Given the description of an element on the screen output the (x, y) to click on. 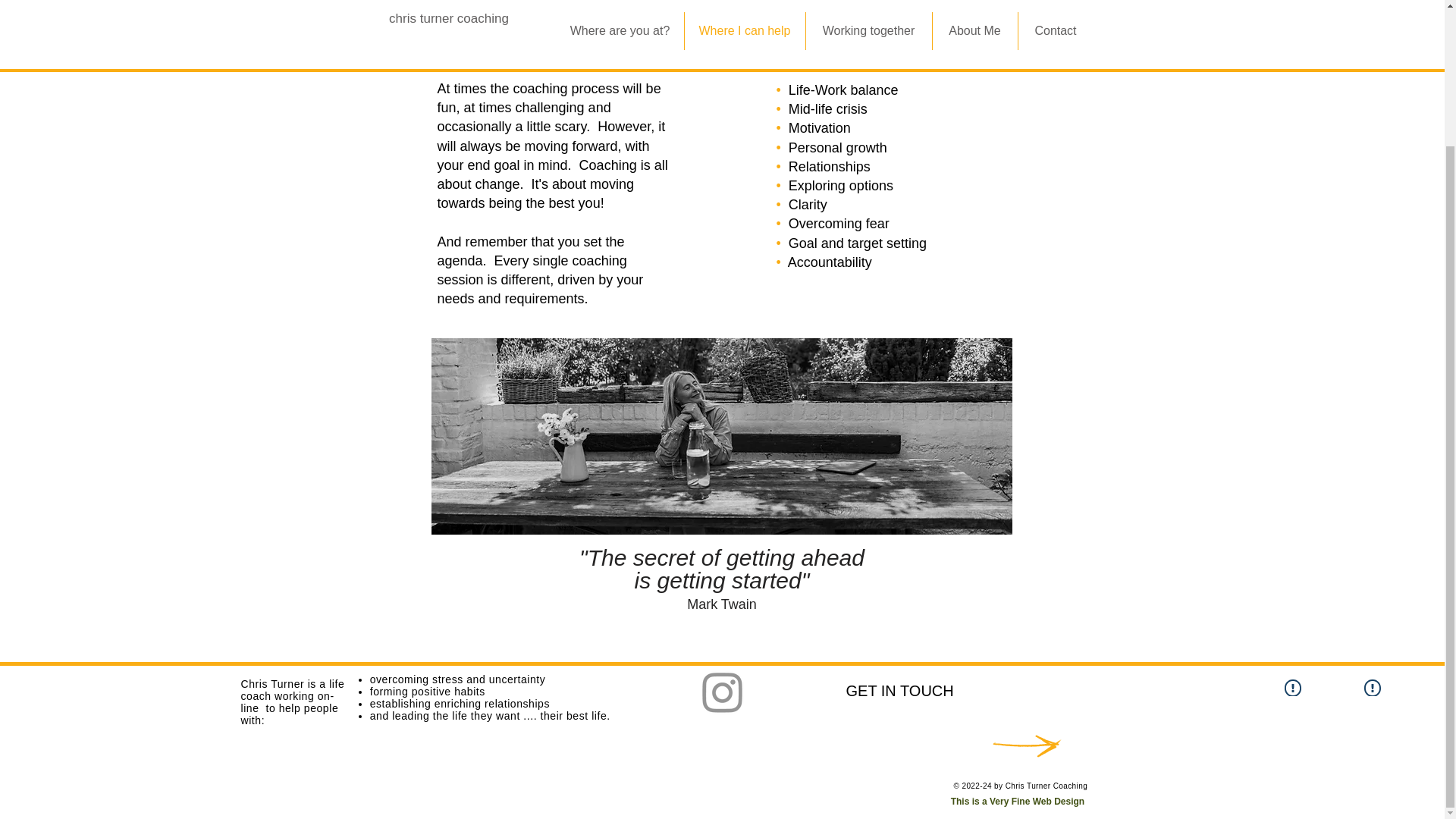
GET IN TOUCH (899, 690)
This is a Very Fine Web Design  (1018, 801)
